Given the description of an element on the screen output the (x, y) to click on. 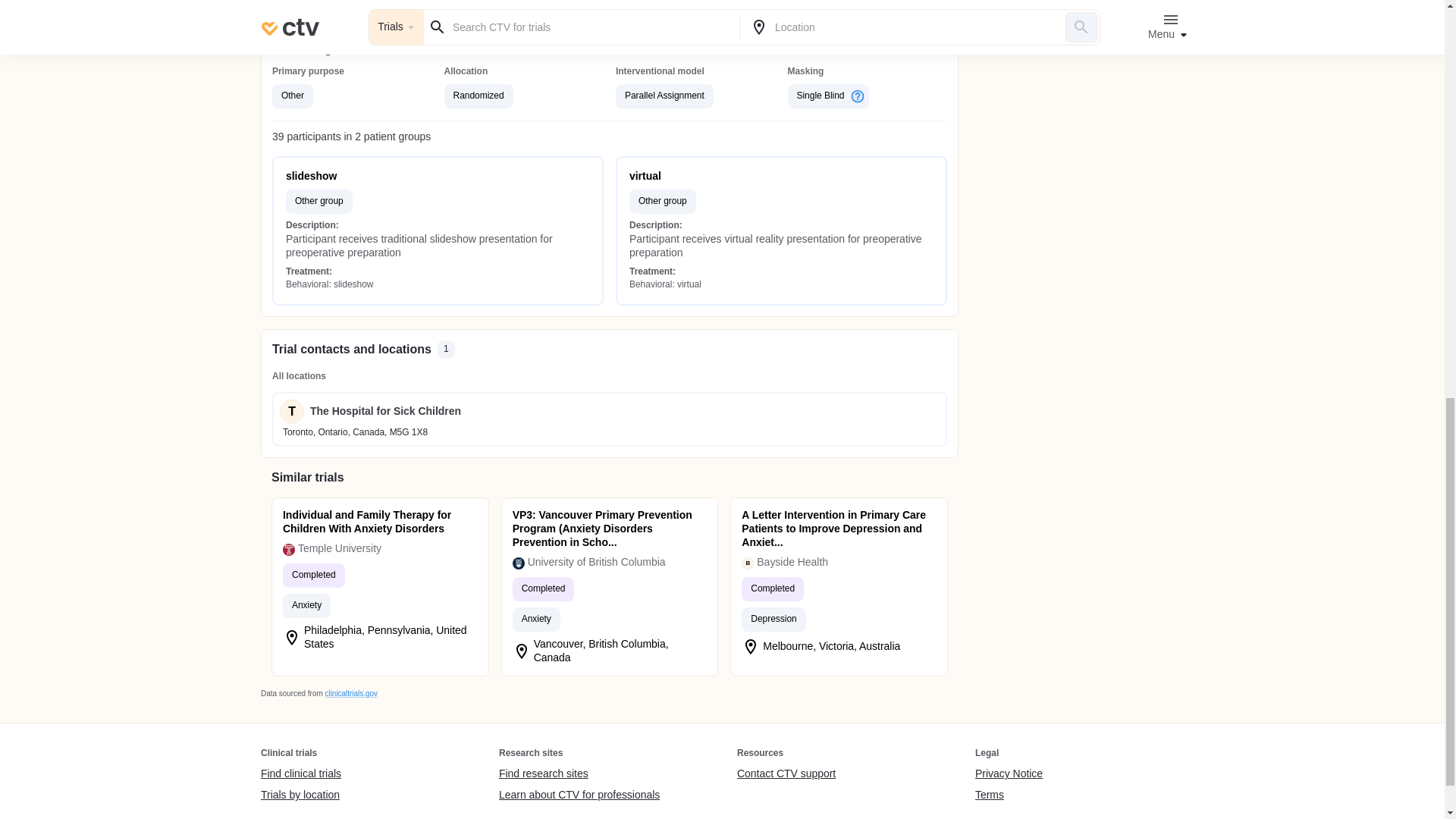
clinicaltrials.gov (350, 693)
Contact CTV support (785, 774)
Privacy Notice (1008, 774)
Find research sites (579, 774)
Trials by location (300, 795)
Terms (1008, 795)
Find clinical trials (300, 774)
Learn about CTV for professionals (579, 795)
